Given the description of an element on the screen output the (x, y) to click on. 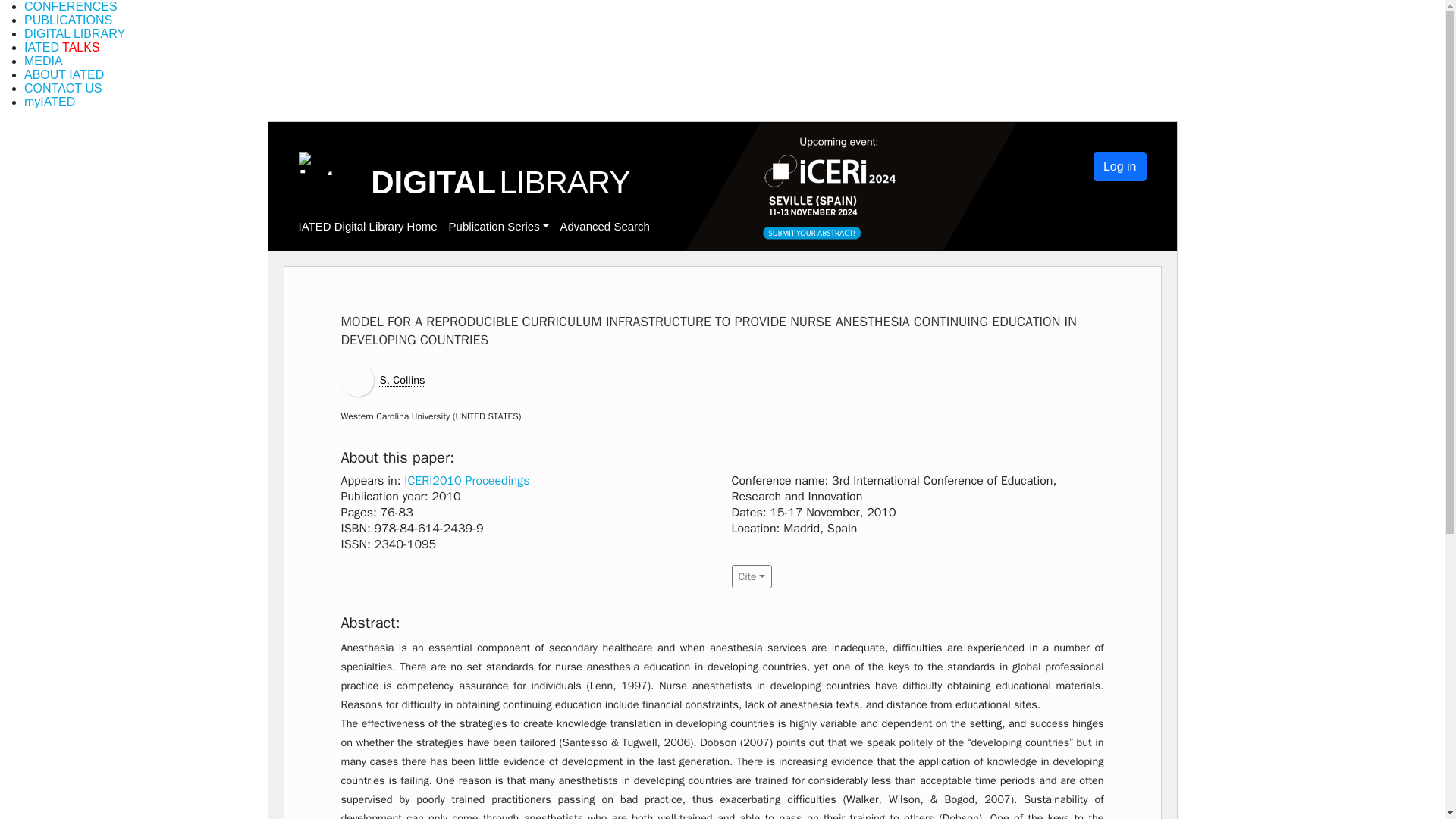
MEDIA (43, 60)
Publication Series (498, 226)
IATED TALKS (62, 47)
S. Collins (402, 379)
ICERI2010 Proceedings (466, 480)
ABOUT IATED (63, 74)
Cite (750, 576)
myIATED (49, 101)
DIGITAL LIBRARY (74, 33)
PUBLICATIONS (68, 19)
